Given the description of an element on the screen output the (x, y) to click on. 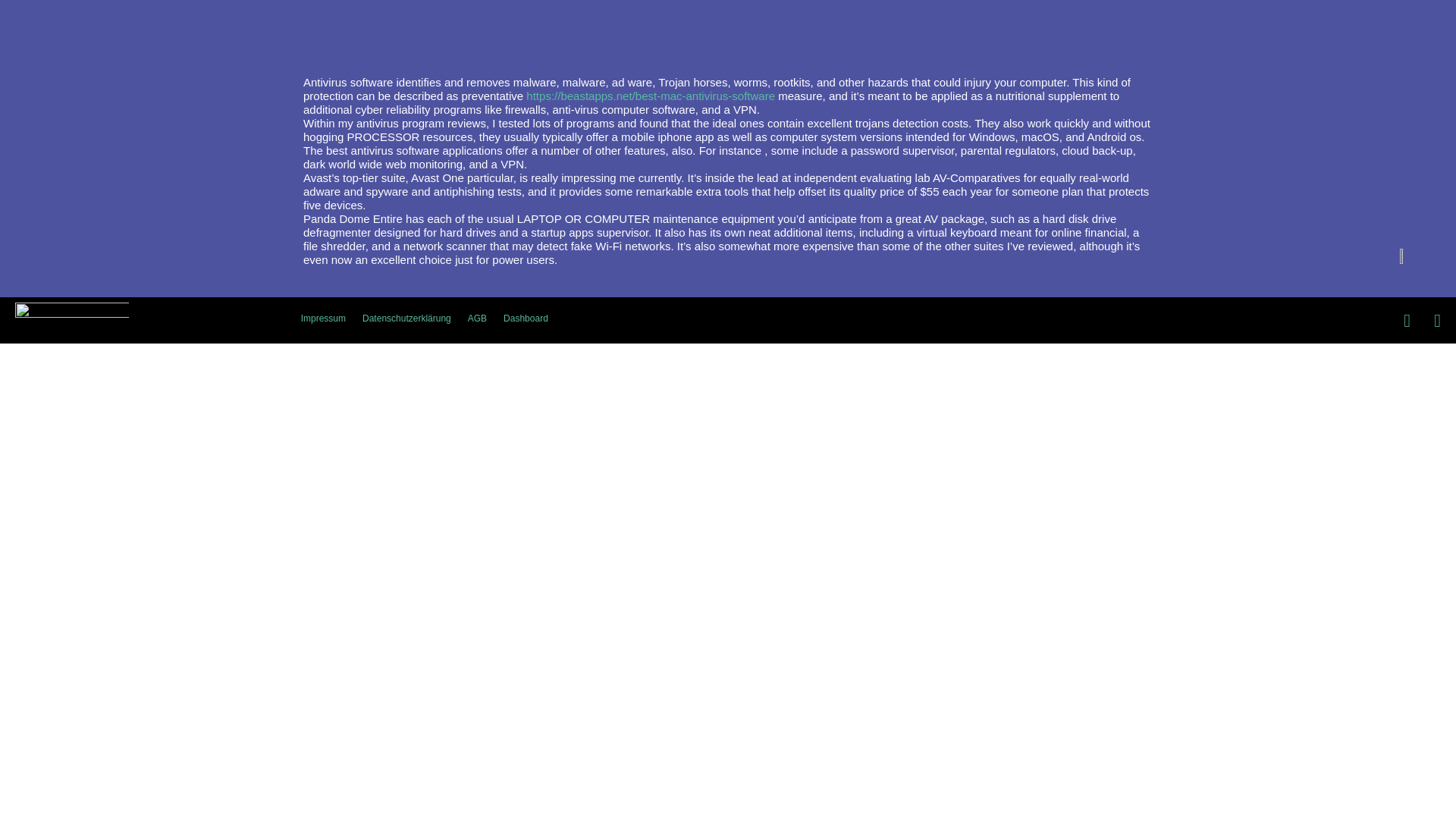
Impressum (322, 318)
AGB (477, 318)
Dashboard (525, 318)
